Given the description of an element on the screen output the (x, y) to click on. 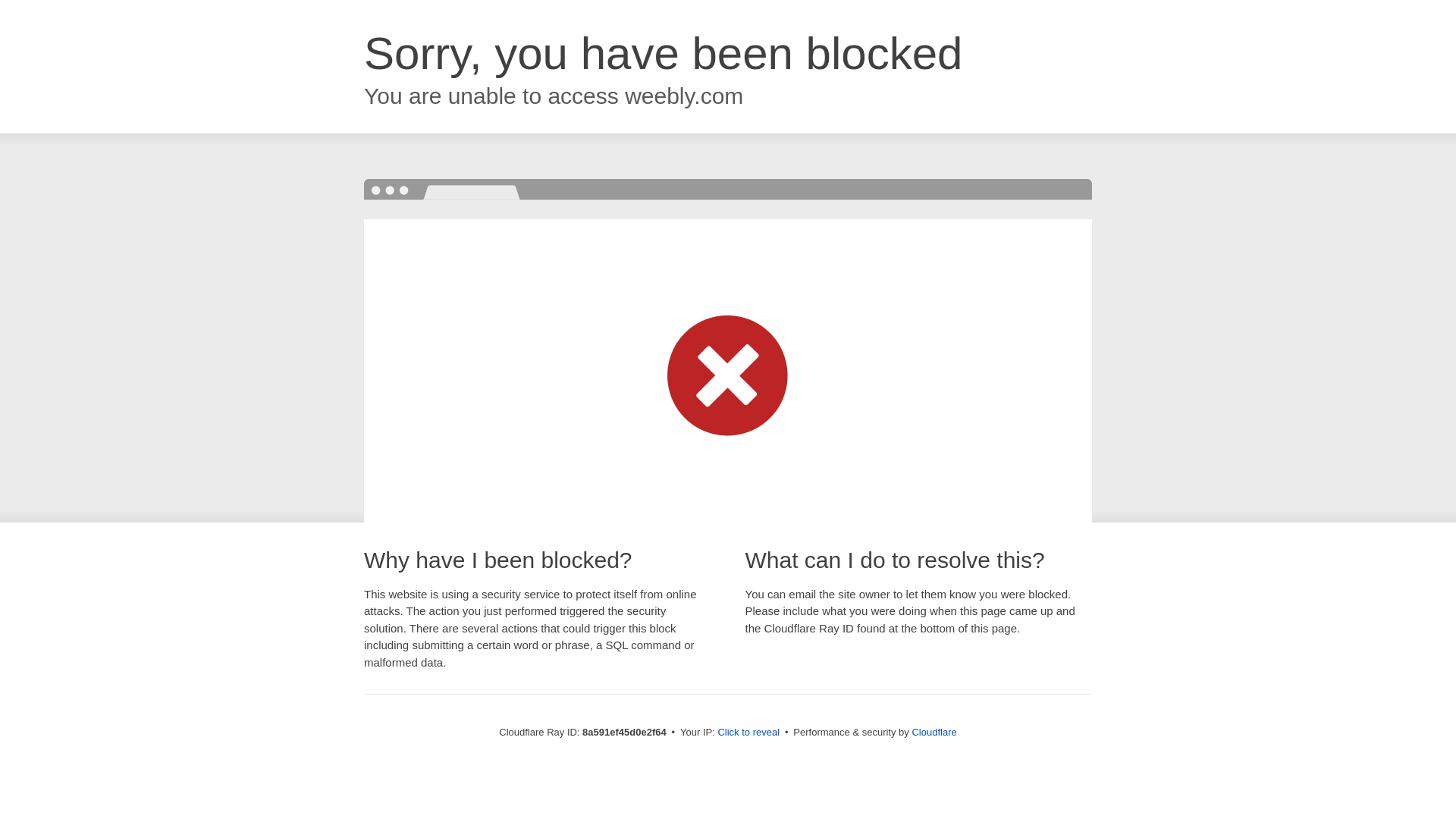
Cloudflare (933, 731)
Click to reveal (747, 732)
